Given the description of an element on the screen output the (x, y) to click on. 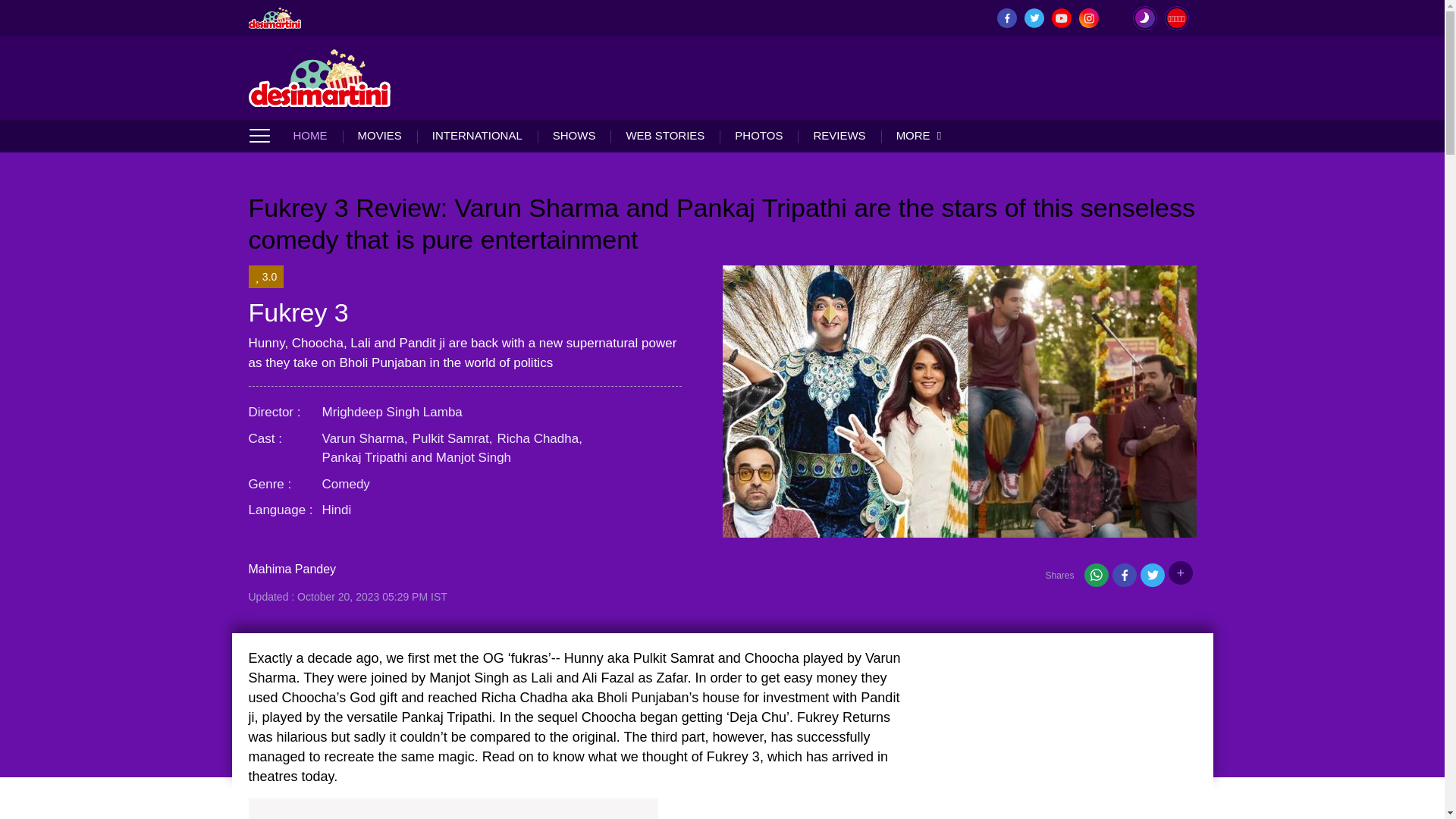
MOVIES (379, 135)
WEB STORIES (664, 135)
INTERNATIONAL (476, 135)
REVIEWS (838, 135)
HOME (317, 135)
Facebook (1123, 577)
PHOTOS (758, 135)
desimartini (319, 77)
SHOWS (574, 135)
desimartini (274, 17)
